Given the description of an element on the screen output the (x, y) to click on. 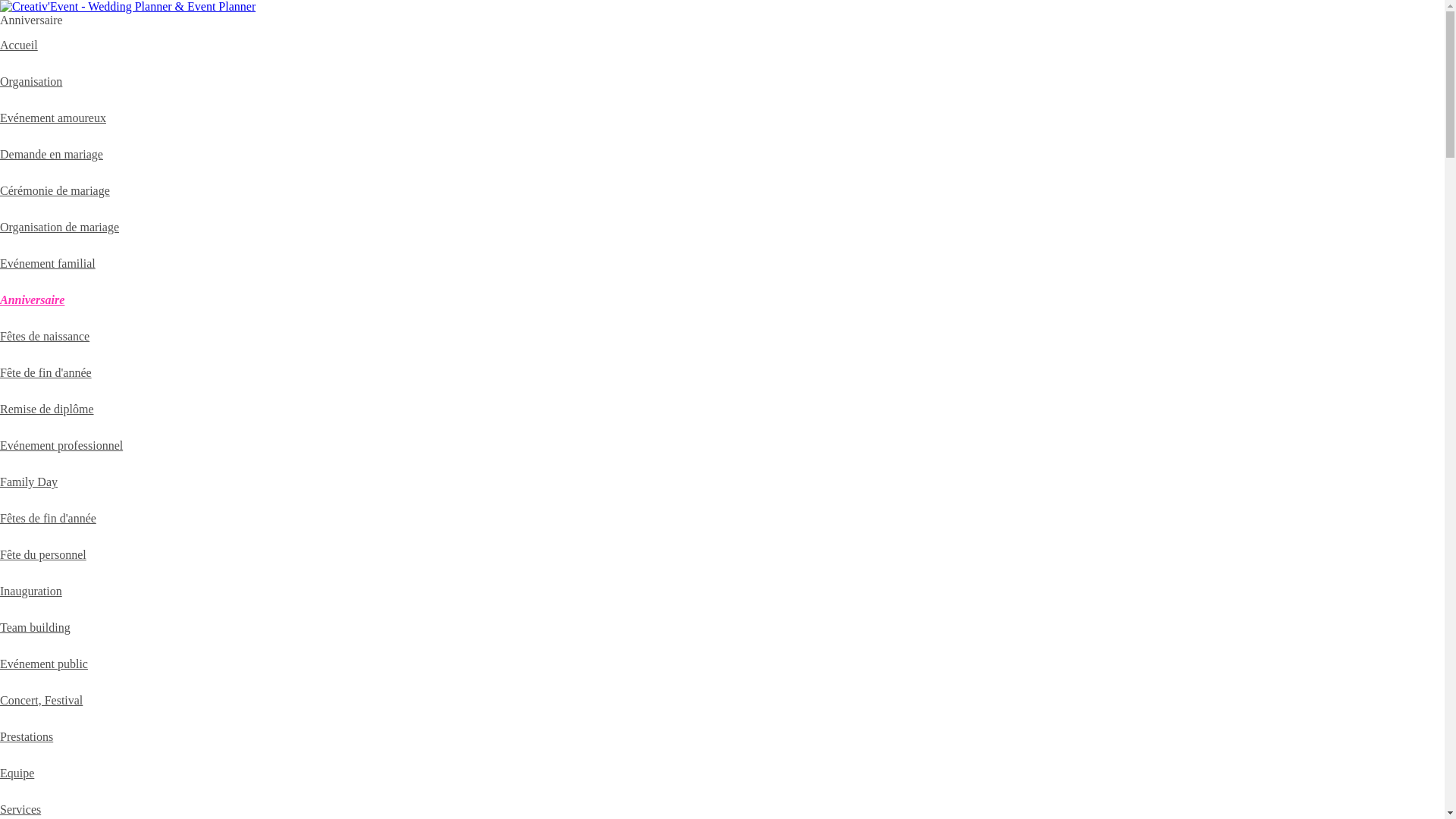
Services Element type: text (20, 809)
Team building Element type: text (35, 627)
Demande en mariage Element type: text (51, 153)
Anniversaire Element type: text (32, 299)
Organisation de mariage Element type: text (59, 226)
Equipe Element type: text (17, 772)
Concert, Festival Element type: text (41, 699)
Family Day Element type: text (28, 481)
Inauguration Element type: text (31, 590)
Accueil Element type: text (18, 44)
Organisation Element type: text (31, 81)
Prestations Element type: text (26, 736)
